Given the description of an element on the screen output the (x, y) to click on. 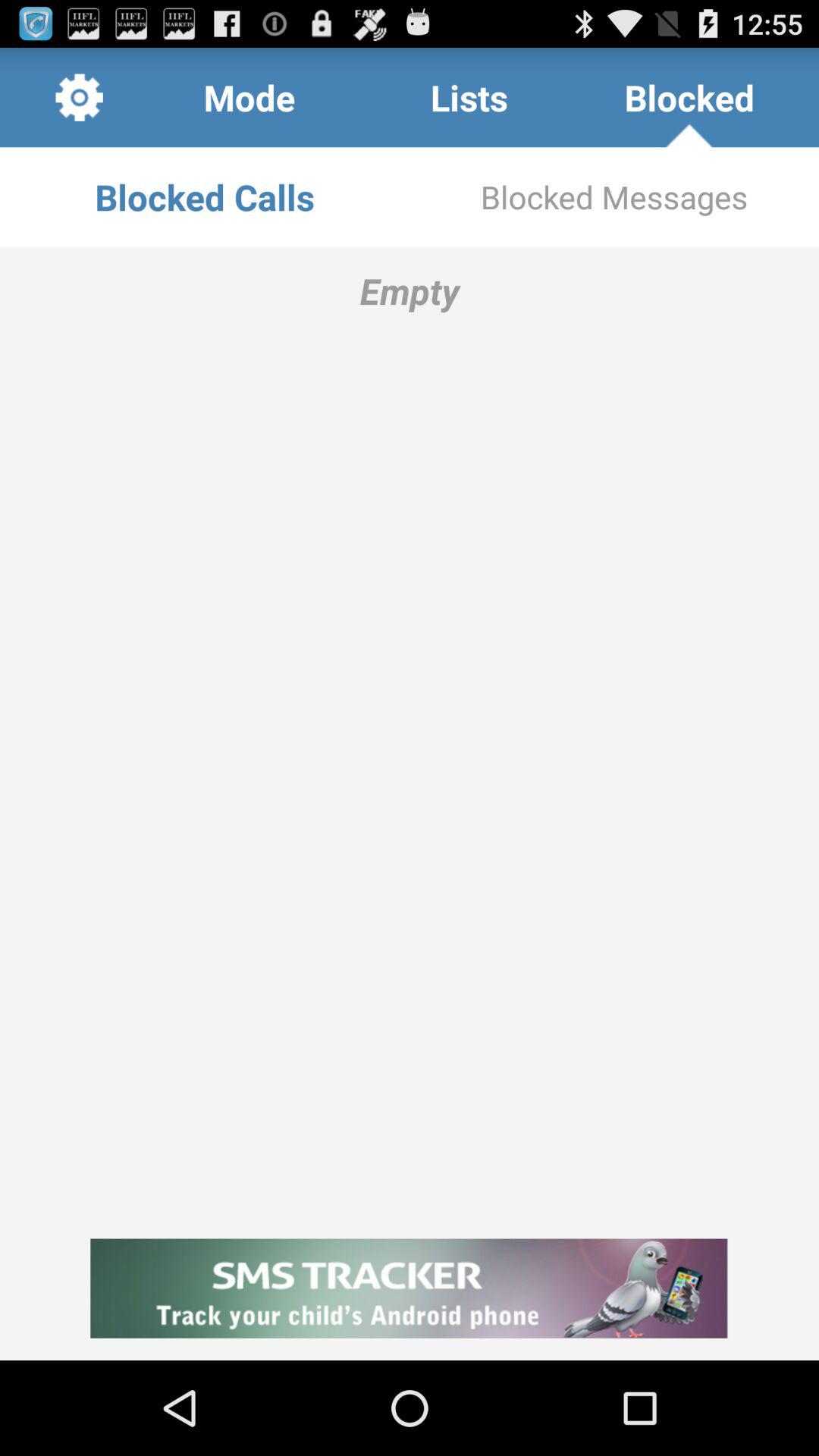
choose the icon below the lists app (614, 196)
